Given the description of an element on the screen output the (x, y) to click on. 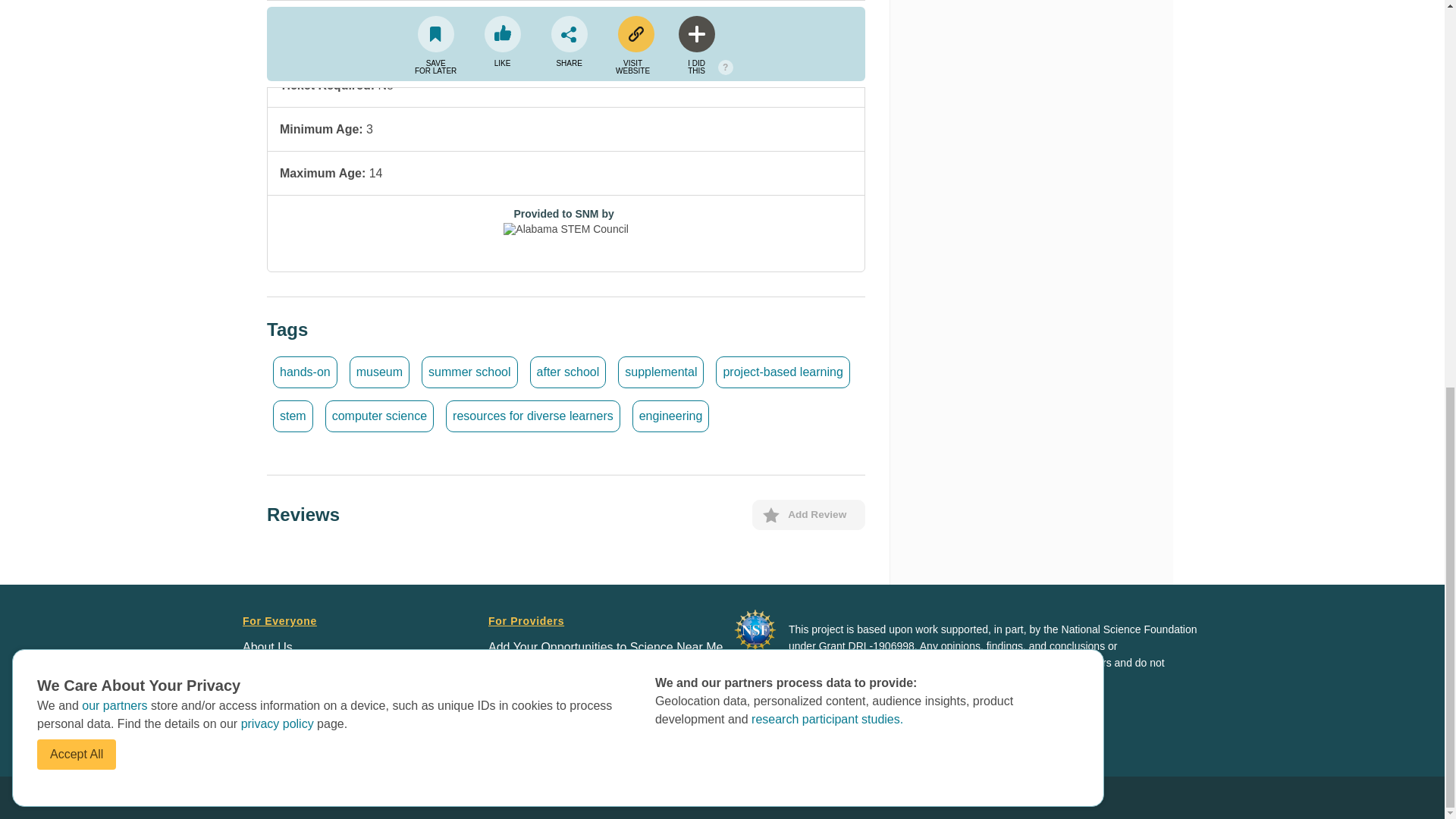
museum (379, 372)
summer school (469, 372)
stem (293, 416)
Add Review (808, 514)
hands-on (305, 372)
supplemental (660, 372)
project-based learning (782, 372)
Alabama STEM Council (565, 234)
after school (568, 372)
engineering (670, 416)
computer science (378, 416)
Accept All (76, 20)
resources for diverse learners (532, 416)
